Given the description of an element on the screen output the (x, y) to click on. 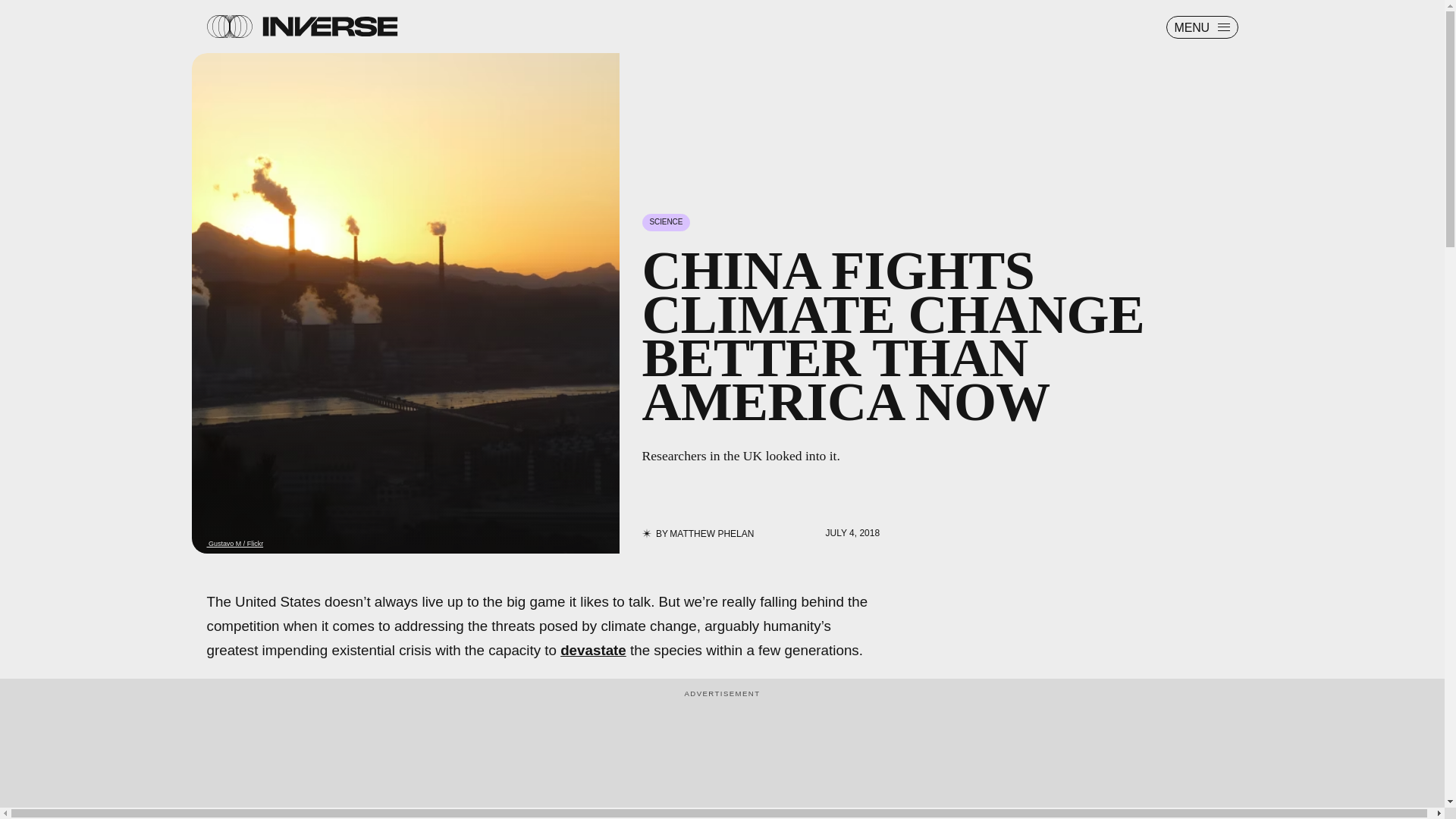
devastate (593, 650)
Inverse (328, 26)
MATTHEW PHELAN (711, 533)
